Given the description of an element on the screen output the (x, y) to click on. 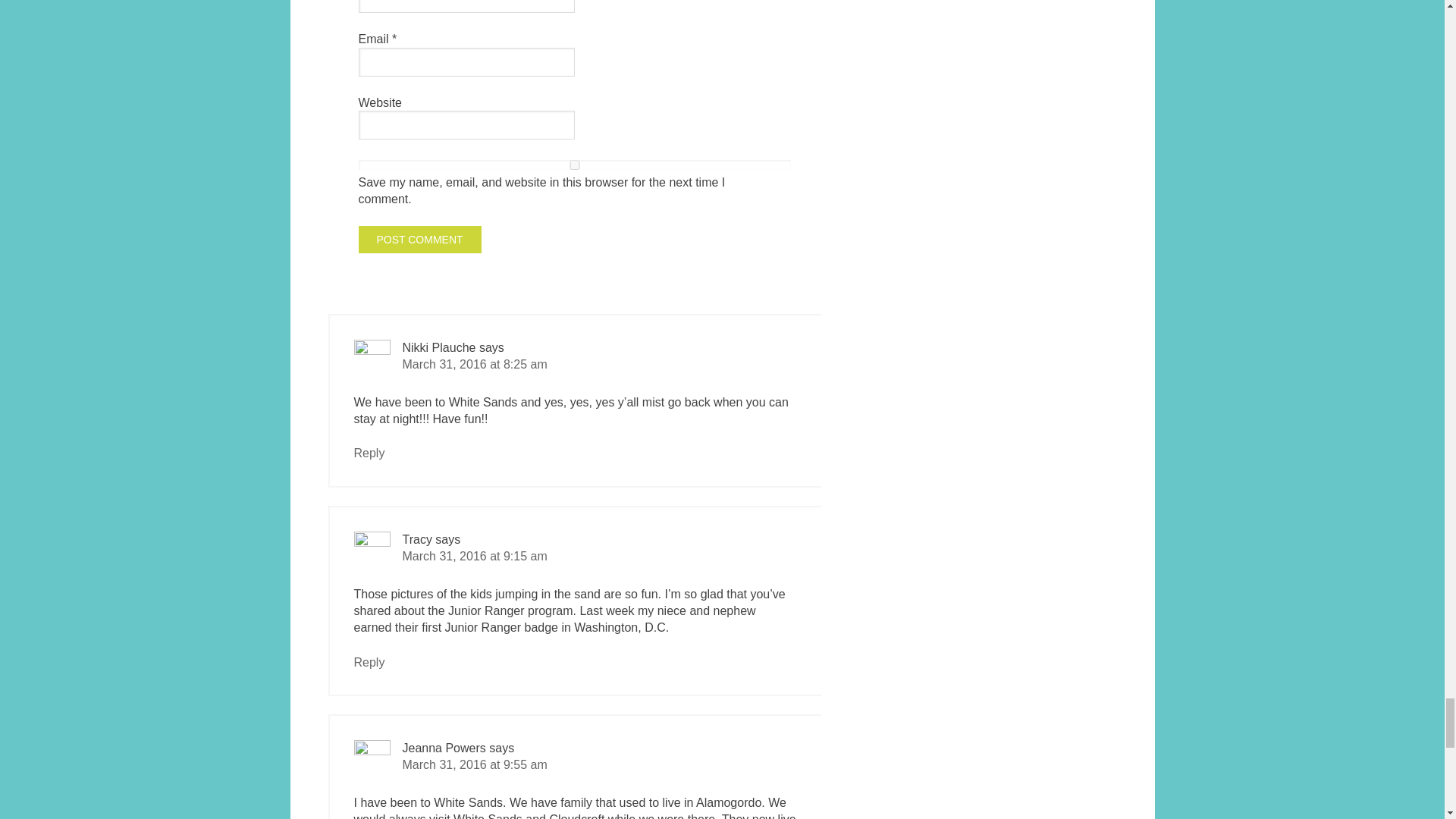
Post Comment (419, 239)
yes (574, 164)
